Given the description of an element on the screen output the (x, y) to click on. 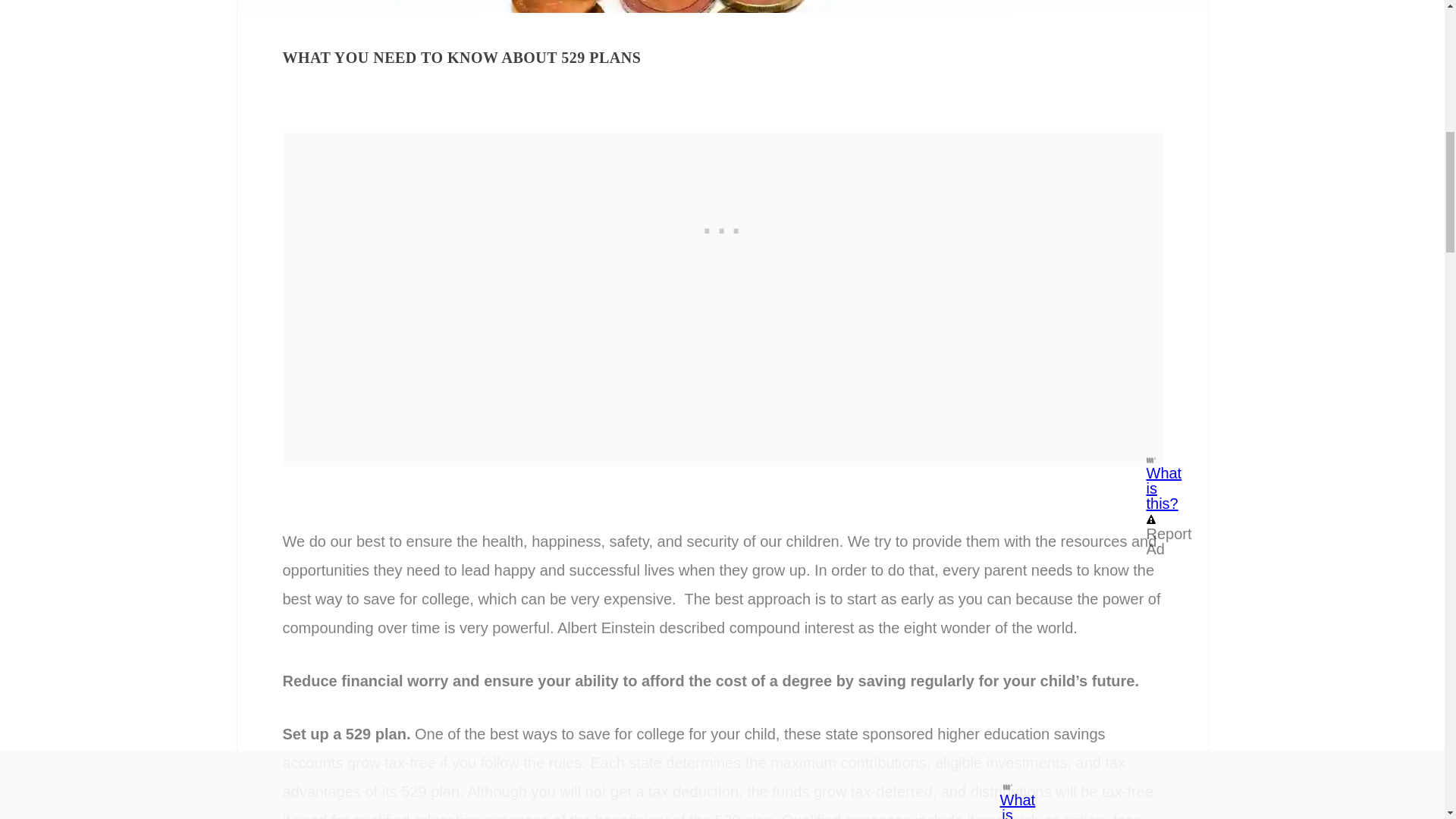
3rd party ad content (721, 227)
